Given the description of an element on the screen output the (x, y) to click on. 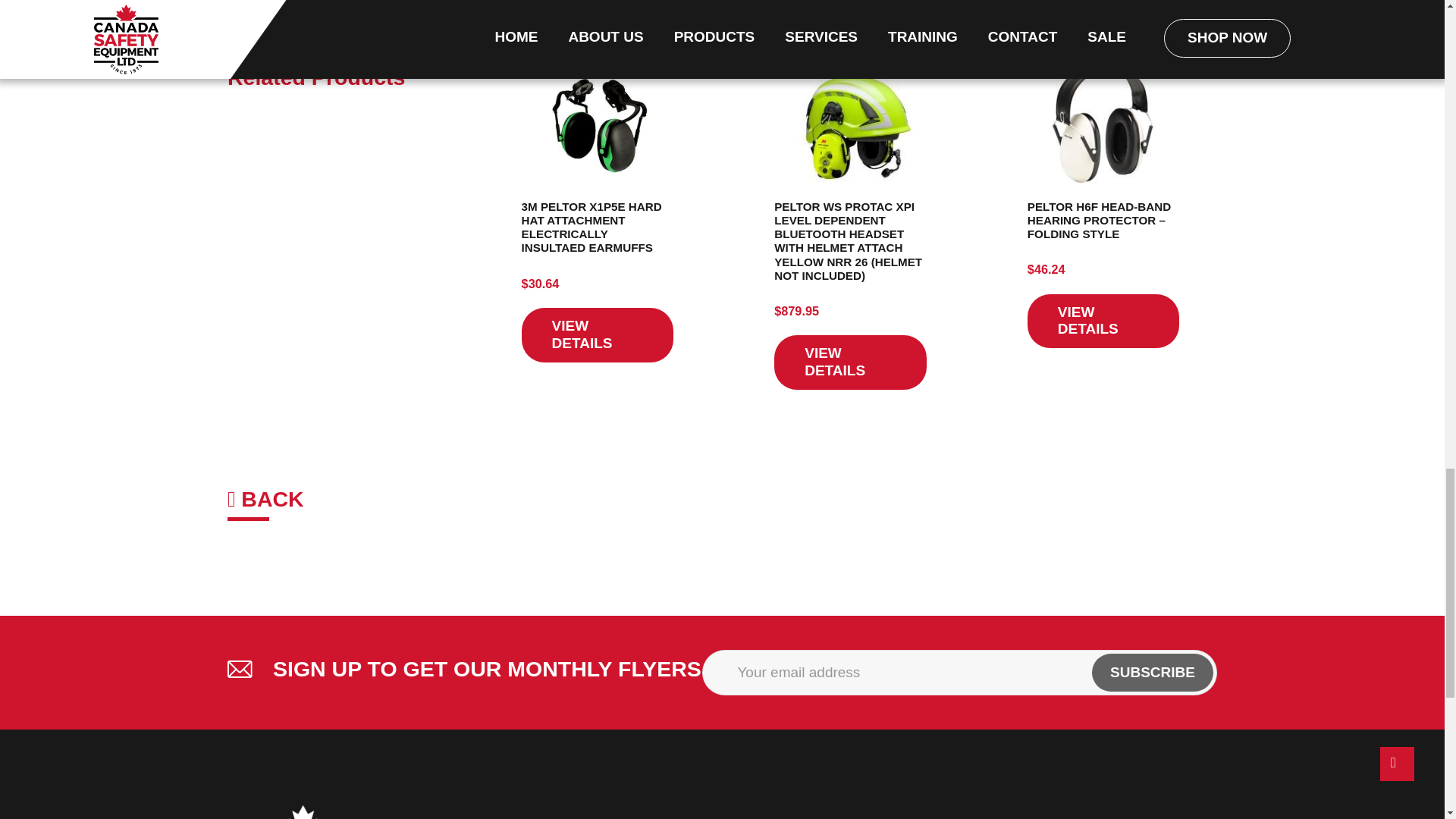
Subscribe (1152, 672)
